Given the description of an element on the screen output the (x, y) to click on. 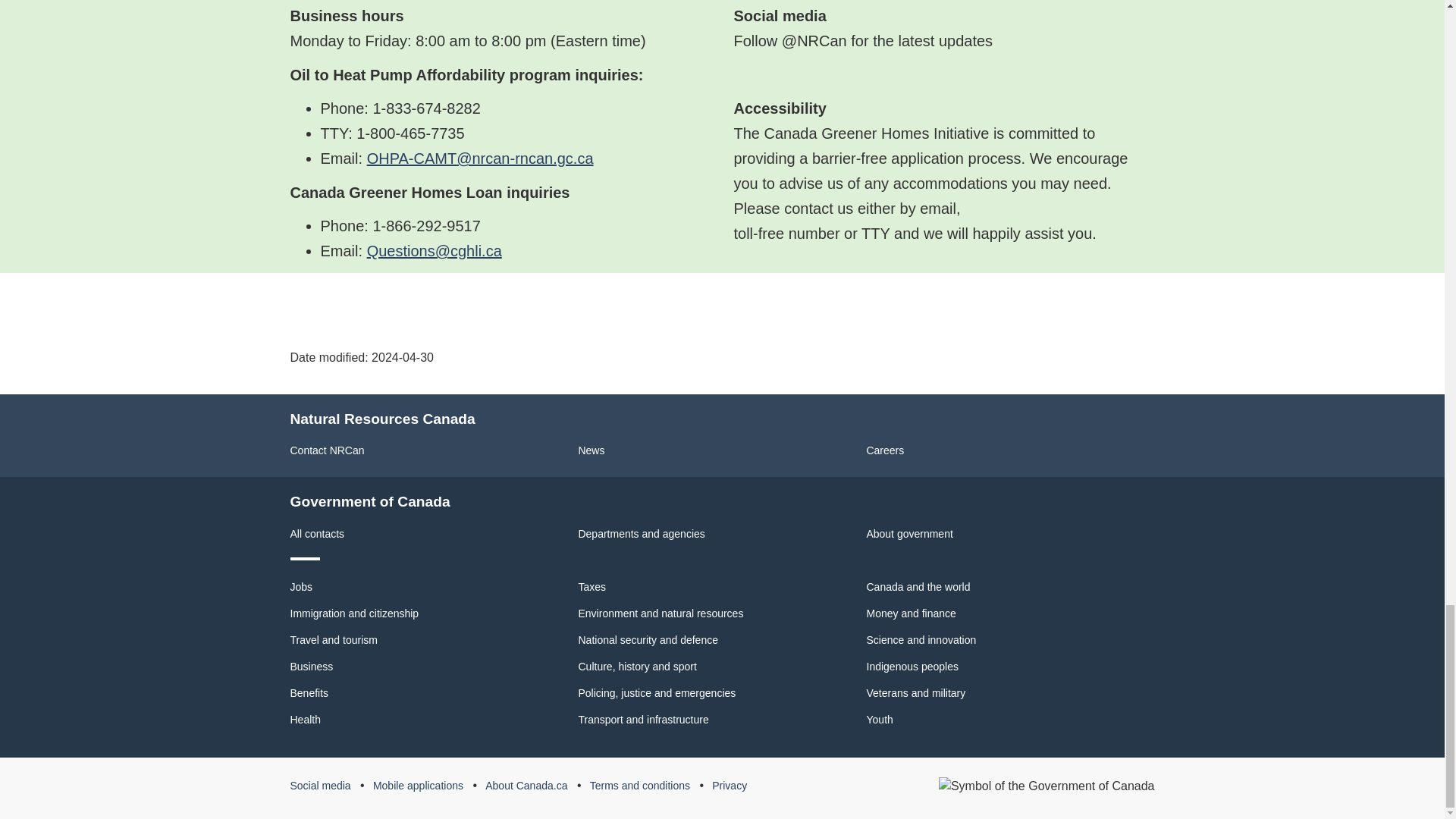
Twitter (739, 74)
